Given the description of an element on the screen output the (x, y) to click on. 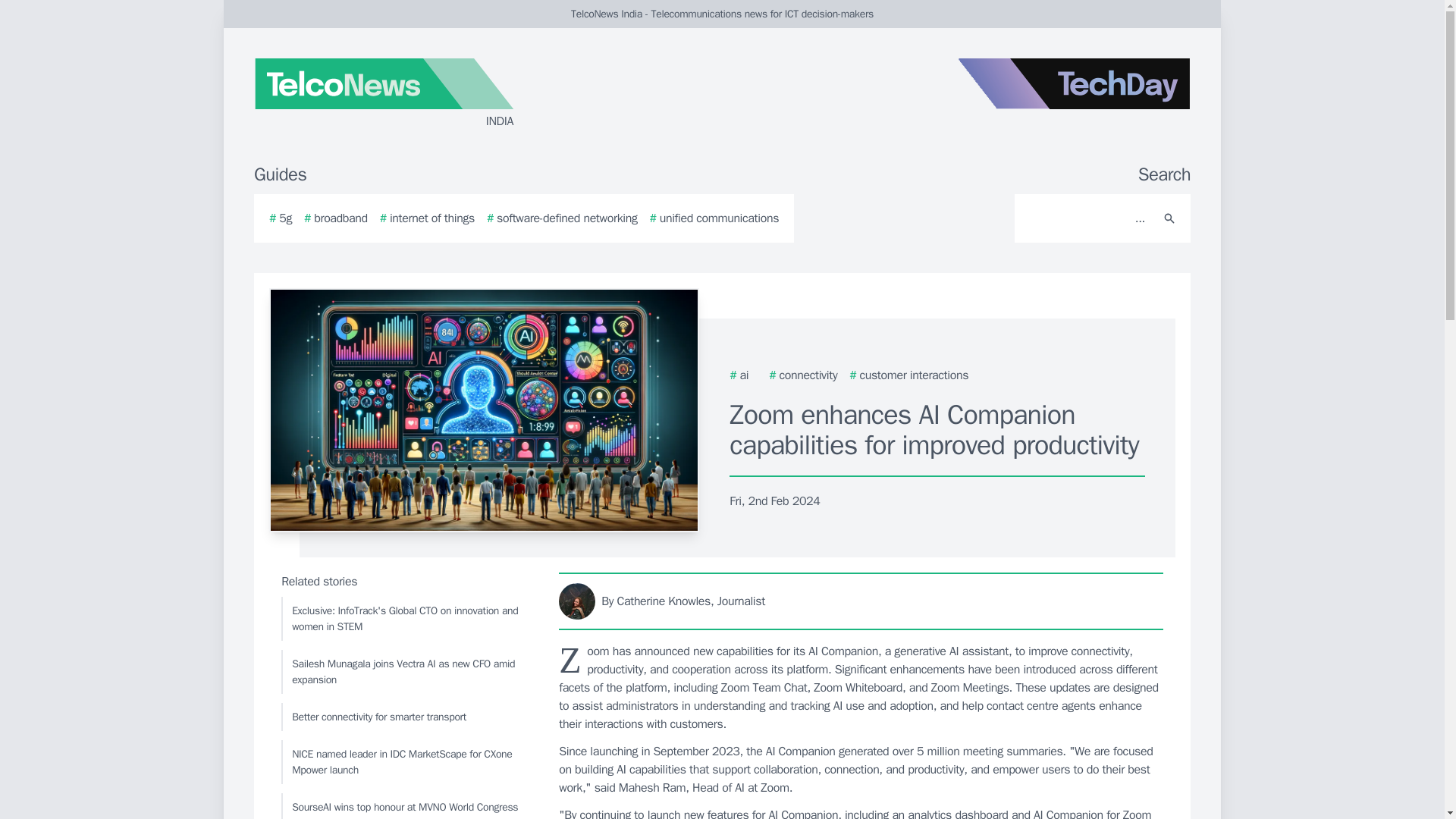
By Catherine Knowles, Journalist (861, 601)
NICE named leader in IDC MarketScape for CXone Mpower launch (406, 761)
INDIA (435, 94)
Sailesh Munagala joins Vectra AI as new CFO amid expansion (406, 671)
Better connectivity for smarter transport (406, 716)
SourseAI wins top honour at MVNO World Congress for Atlas (406, 806)
